Given the description of an element on the screen output the (x, y) to click on. 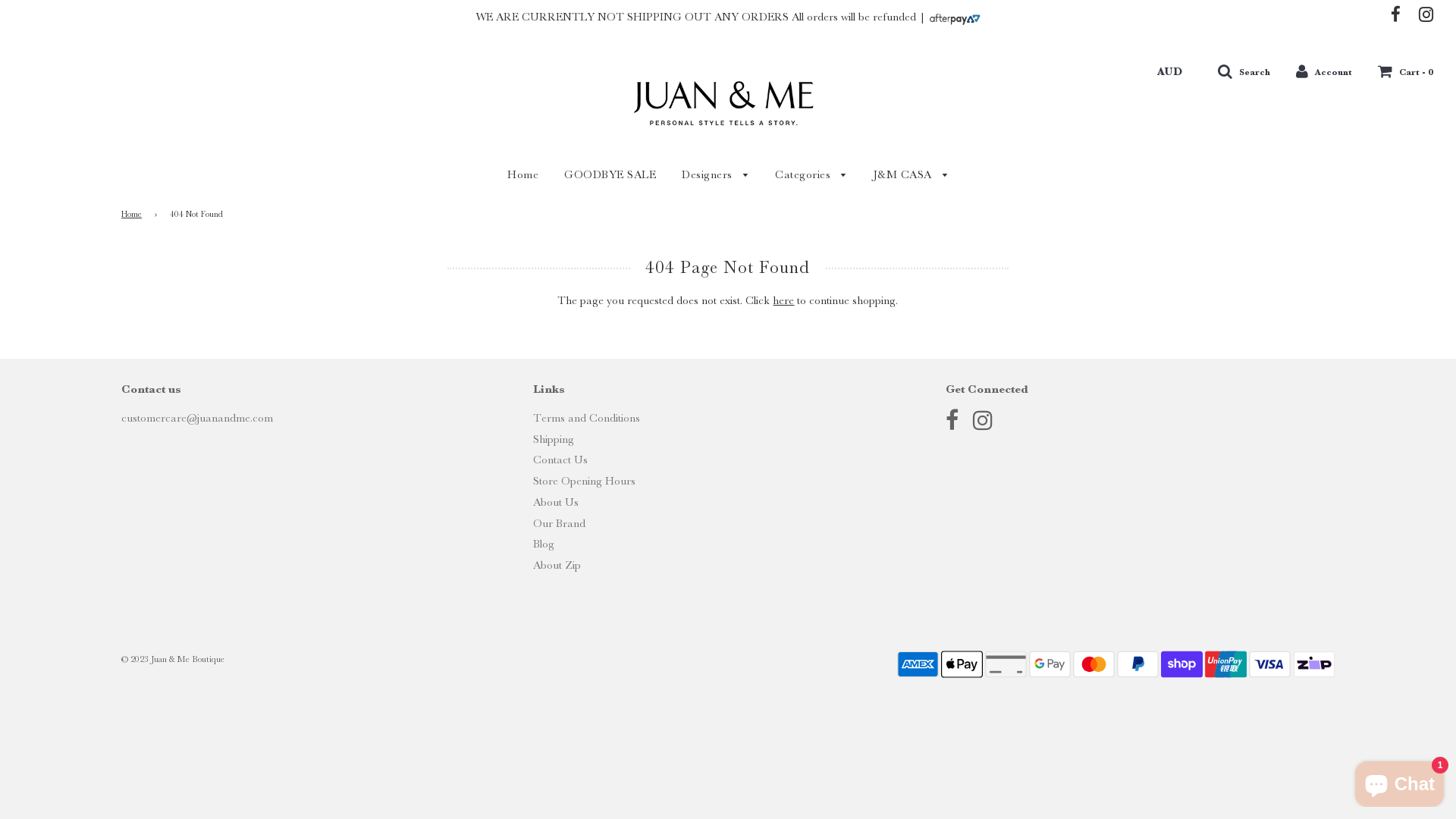
Contact Us Element type: text (560, 459)
Shopify online store chat Element type: hover (1399, 780)
Home Element type: text (522, 174)
Categories Element type: text (811, 175)
About Zip Element type: text (556, 564)
About Us Element type: text (555, 501)
Cart - 0 Element type: text (1405, 71)
Terms and Conditions Element type: text (586, 417)
Home Element type: text (134, 214)
Shipping Element type: text (553, 438)
Search Element type: text (1243, 71)
J&M CASA Element type: text (904, 175)
GOODBYE SALE Element type: text (609, 174)
Store Opening Hours Element type: text (584, 480)
Blog Element type: text (543, 543)
Account Element type: text (1323, 71)
Designers Element type: text (715, 175)
Our Brand Element type: text (559, 523)
here Element type: text (782, 300)
